Given the description of an element on the screen output the (x, y) to click on. 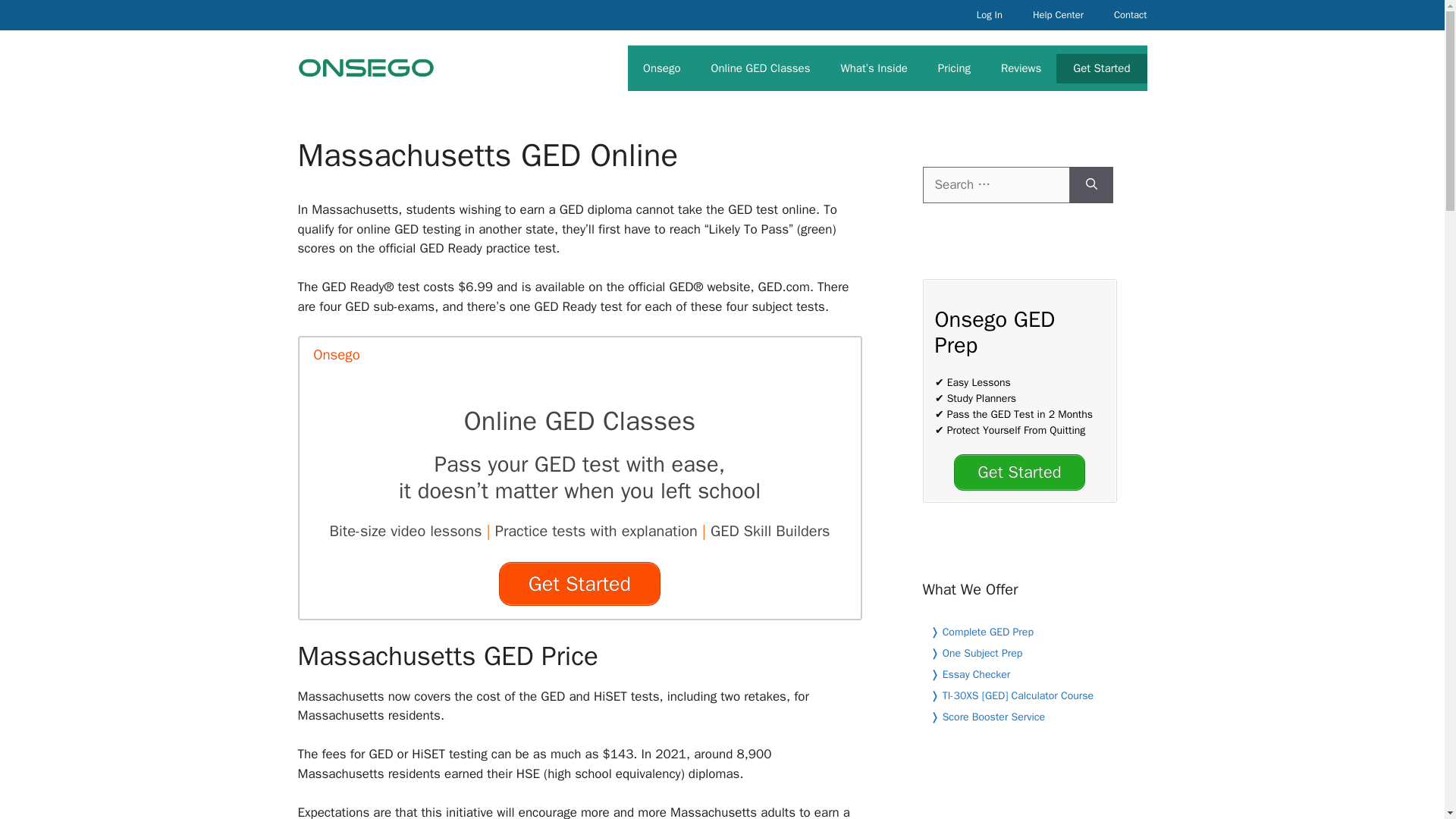
Contact (1130, 15)
Get Started (580, 583)
Log In (988, 15)
Get Started (1018, 472)
Reviews (1021, 67)
Help Center (1058, 15)
Get Started (1102, 67)
Pricing (954, 67)
Online GED Classes (760, 67)
Onsego (661, 67)
